Given the description of an element on the screen output the (x, y) to click on. 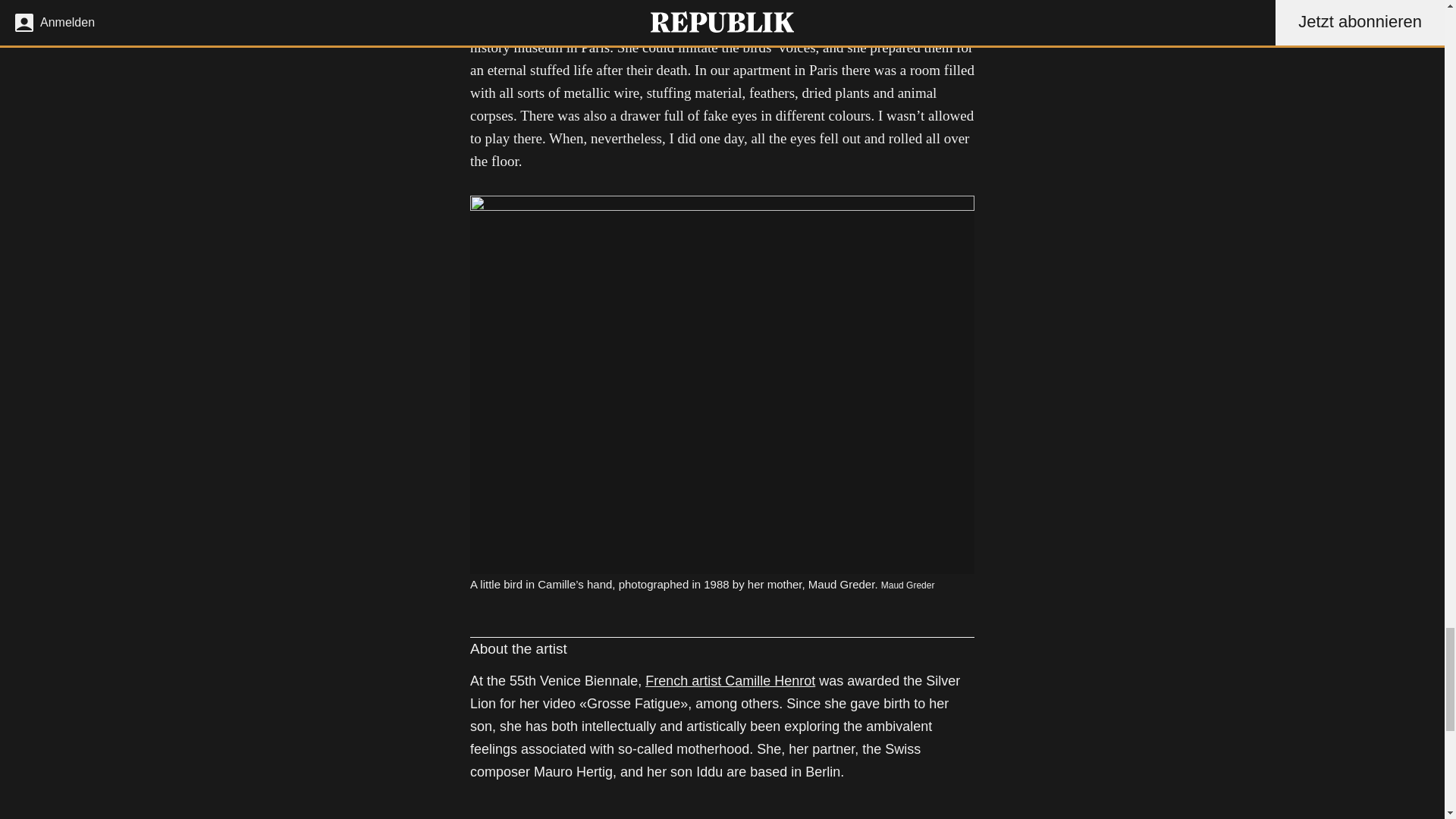
French artist Camille Henrot (730, 680)
